Given the description of an element on the screen output the (x, y) to click on. 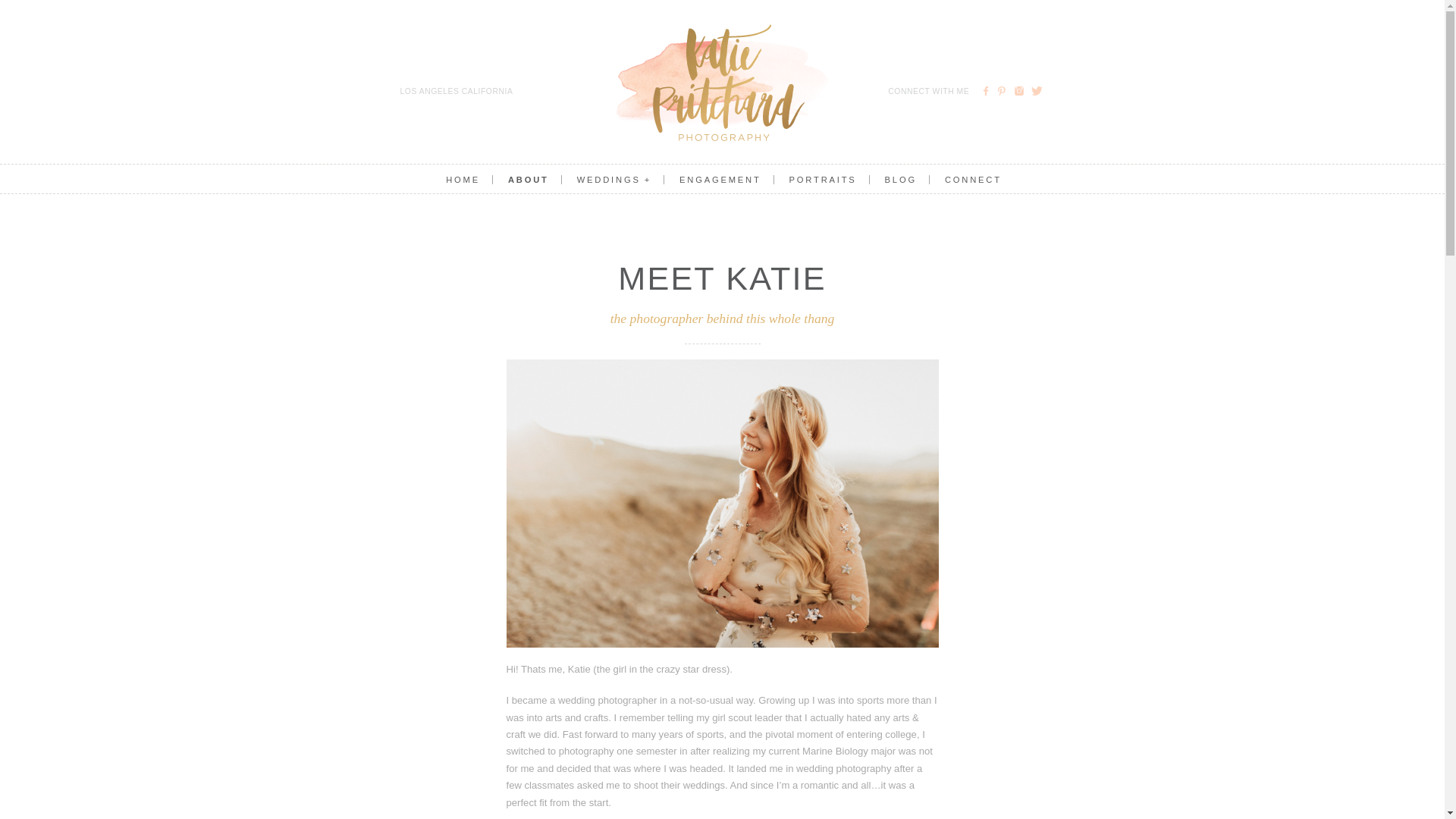
BLOG (893, 179)
ENGAGEMENT (712, 179)
HOME (455, 179)
CONNECT (964, 179)
ABOUT (520, 179)
WEDDINGS (605, 179)
PORTRAITS (815, 179)
